Given the description of an element on the screen output the (x, y) to click on. 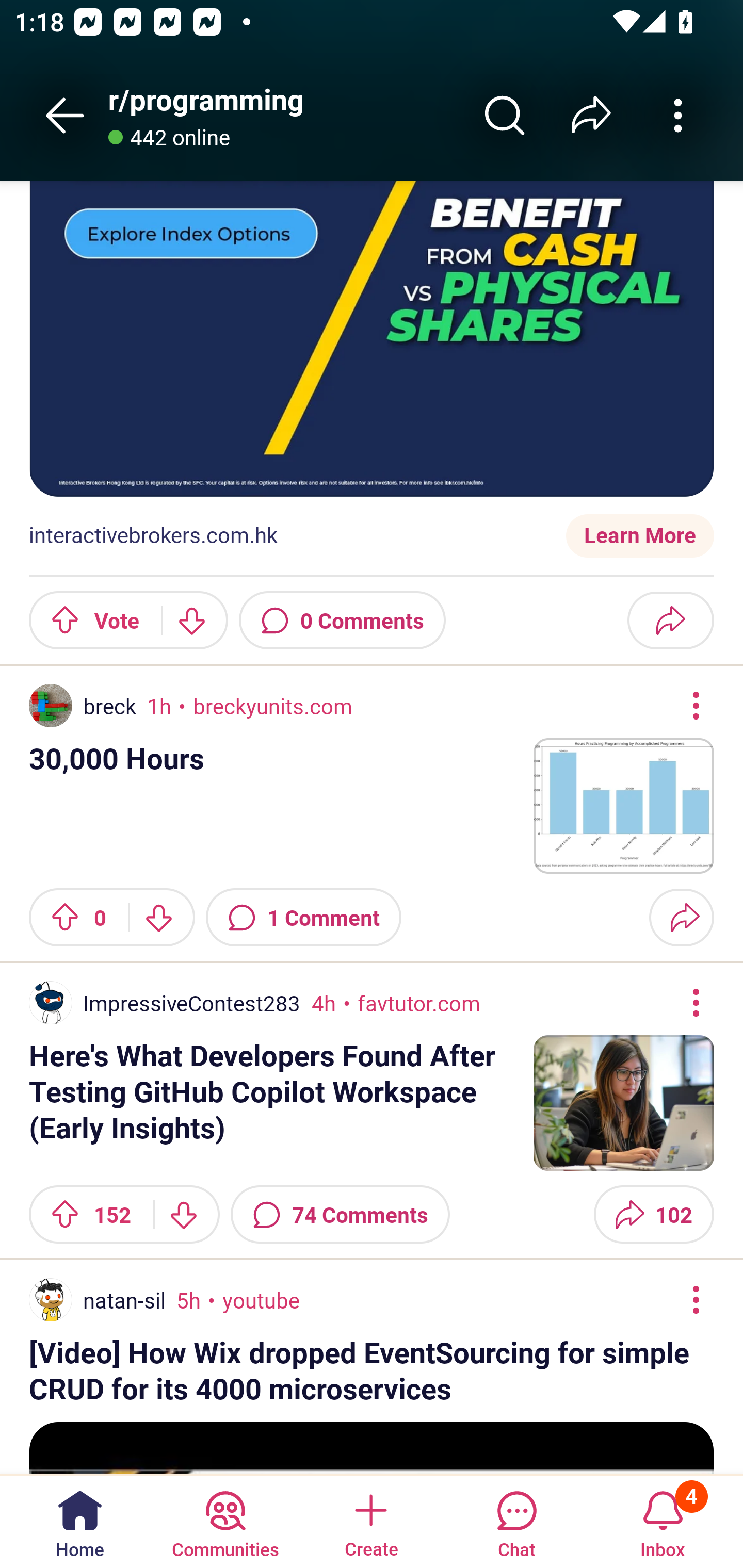
Back (64, 115)
Search r/﻿programming (504, 115)
Share r/﻿programming (591, 115)
More community actions (677, 115)
Home (80, 1520)
Communities (225, 1520)
Create a post Create (370, 1520)
Chat (516, 1520)
Inbox, has 4 notifications 4 Inbox (662, 1520)
